Given the description of an element on the screen output the (x, y) to click on. 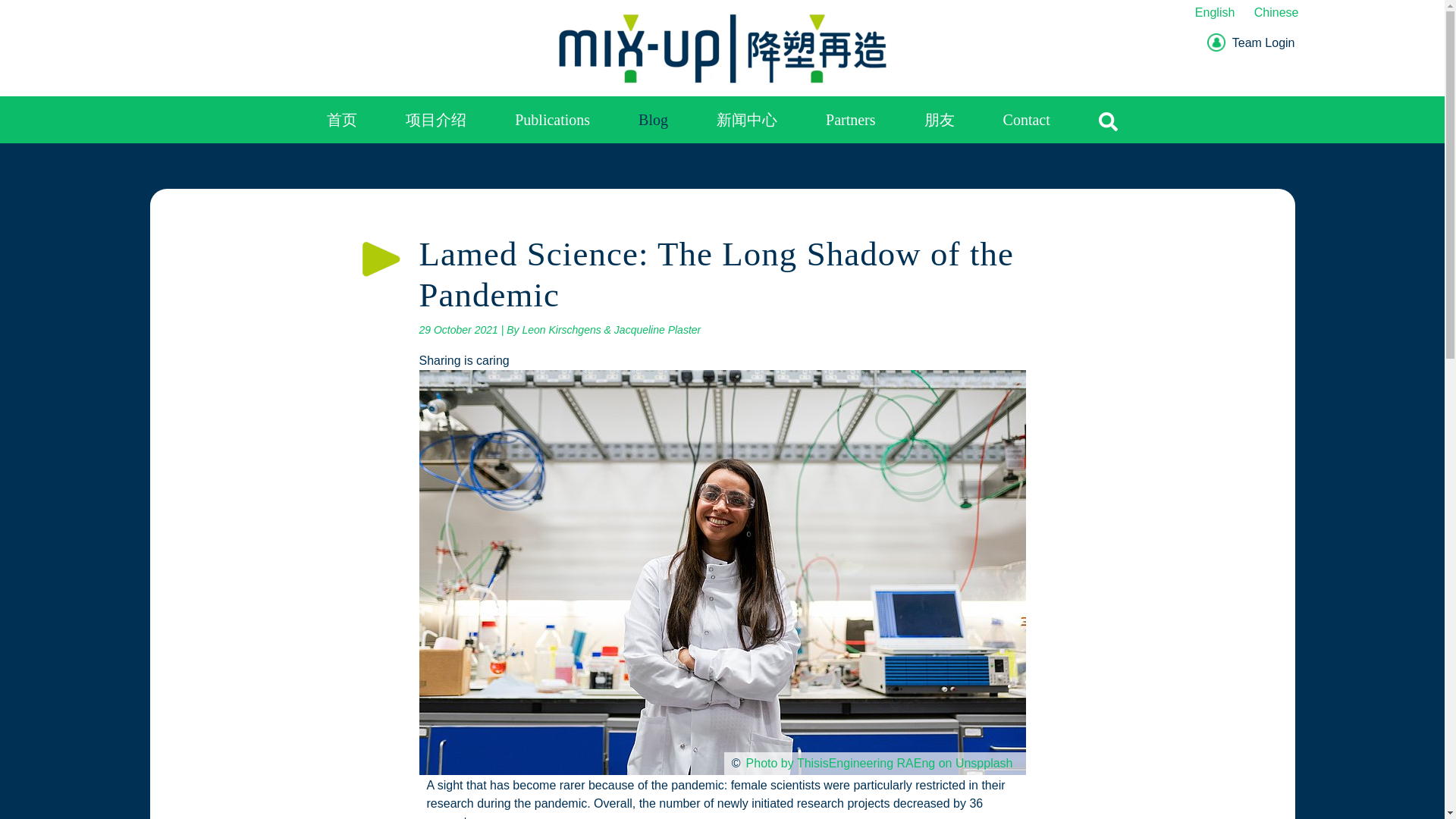
Publications (552, 119)
Photo by ThisisEngineering RAEng on Unspplash (879, 762)
Team Login (1251, 42)
English (1219, 11)
Blog (653, 119)
Contact (1026, 119)
Chinese (1276, 11)
Partners (850, 119)
